Given the description of an element on the screen output the (x, y) to click on. 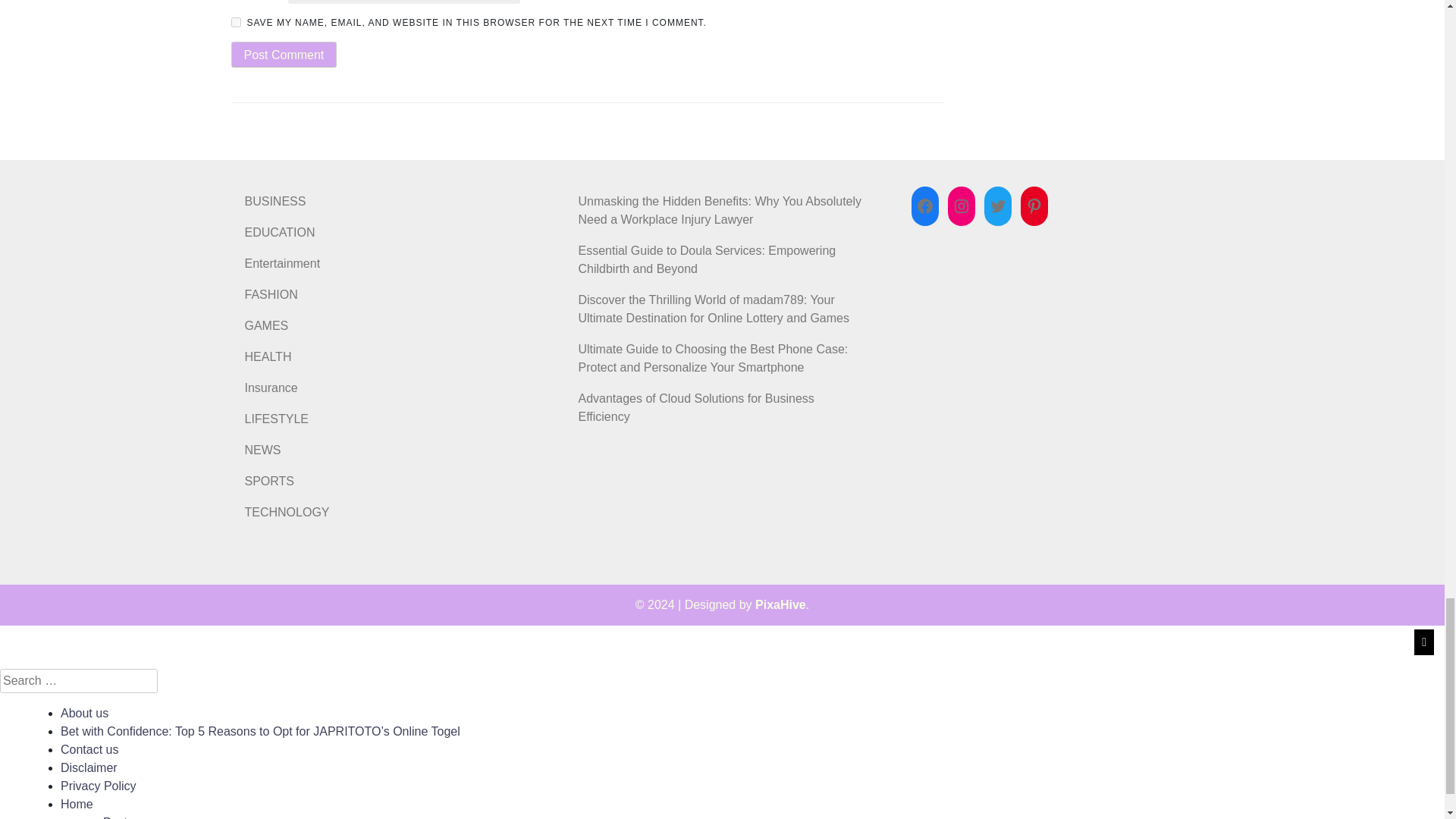
Post Comment (283, 54)
yes (235, 22)
